Given the description of an element on the screen output the (x, y) to click on. 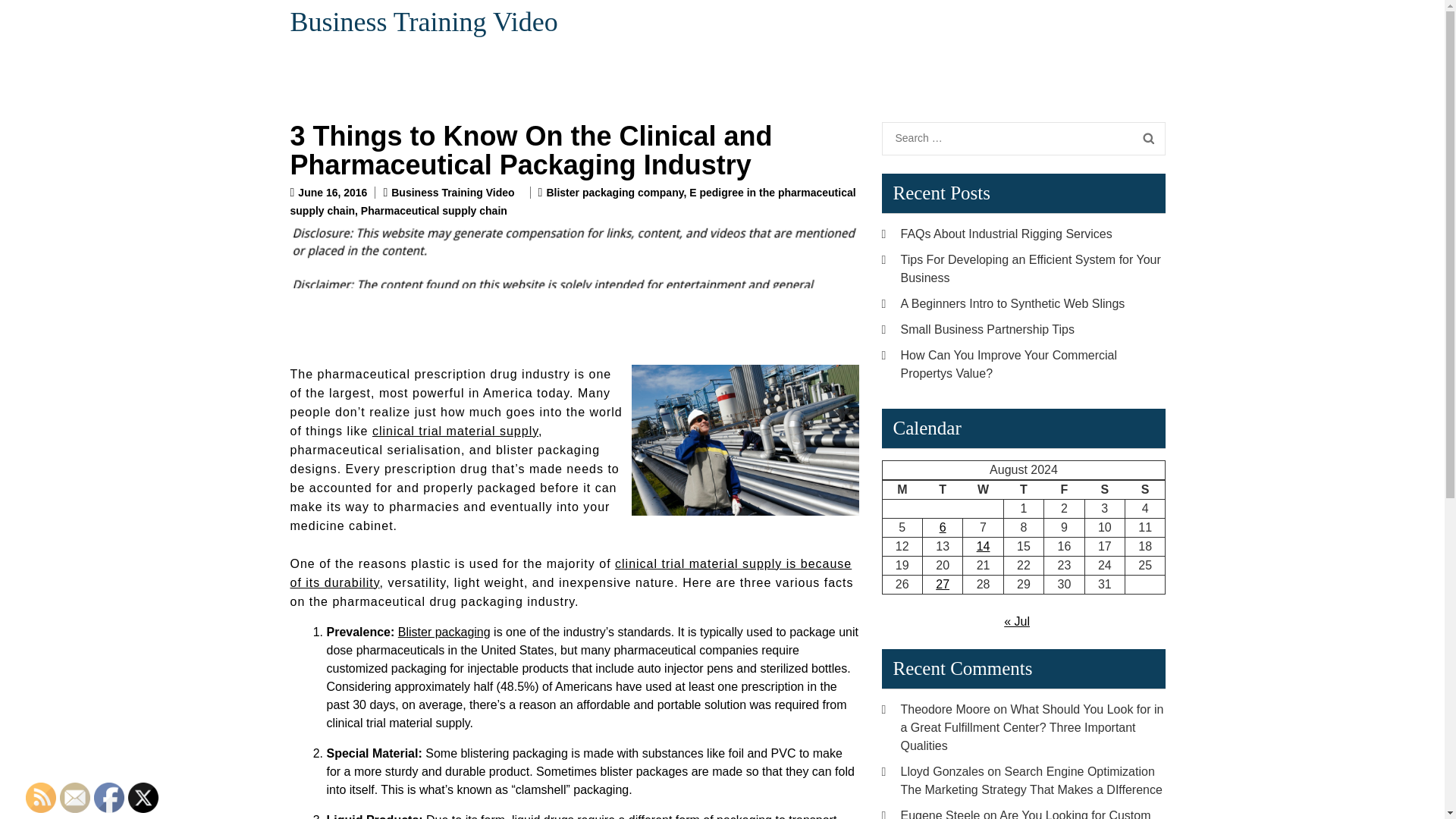
more (570, 572)
June 16, 2016 (332, 192)
27 (942, 584)
Follow by Email (74, 797)
Friday (1063, 489)
Blister packaging company (614, 192)
Tips For Developing an Efficient System for Your Business (1030, 268)
RSS (41, 797)
Search (1148, 138)
